Given the description of an element on the screen output the (x, y) to click on. 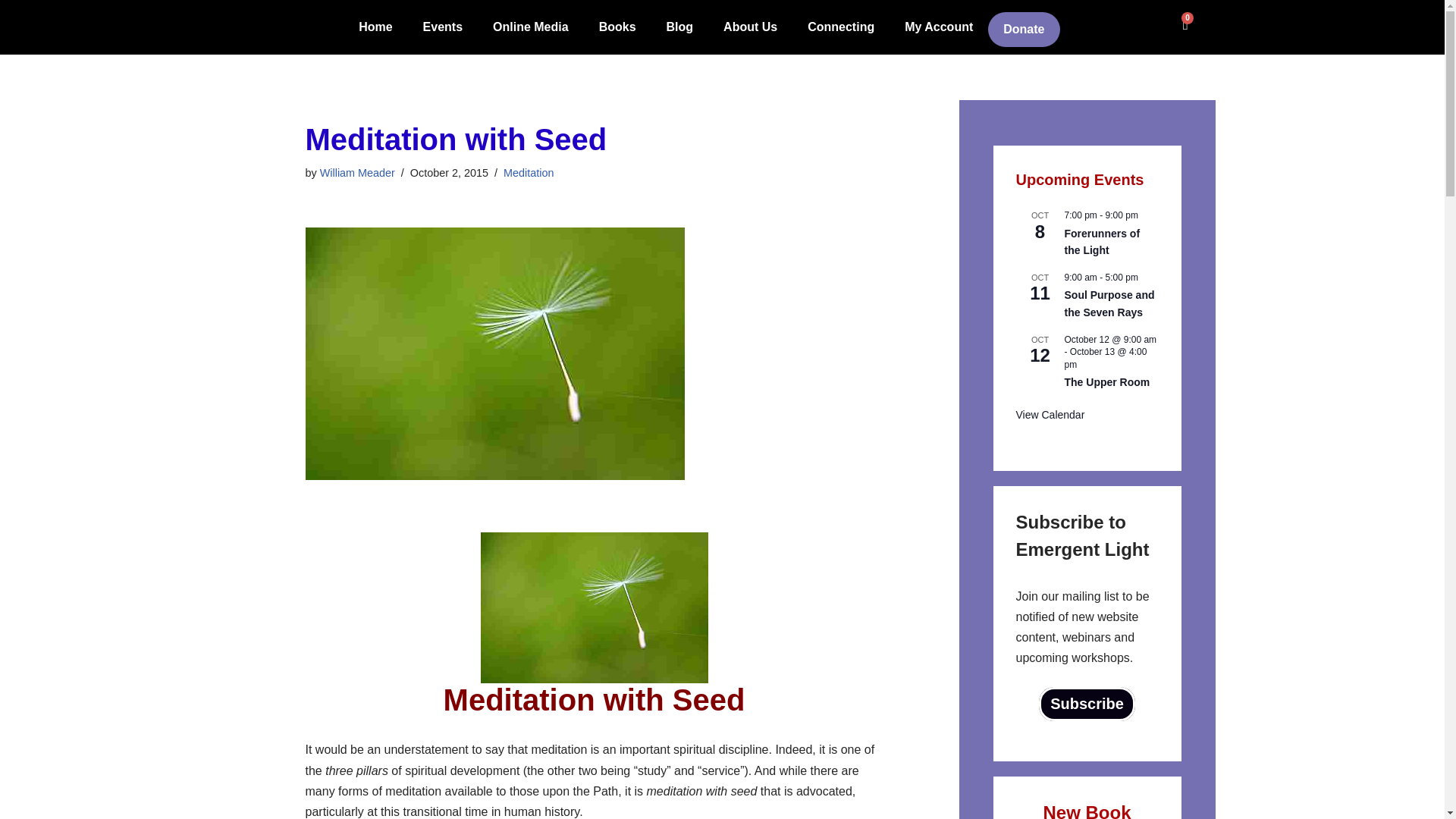
Home (375, 26)
The Upper Room (1107, 382)
Posts by William Meader (357, 173)
Forerunners of the Light (1102, 242)
Skip to content (11, 31)
Soul Purpose and the Seven Rays (1109, 304)
Events (442, 26)
View more events. (1050, 414)
Online Media (530, 26)
